Given the description of an element on the screen output the (x, y) to click on. 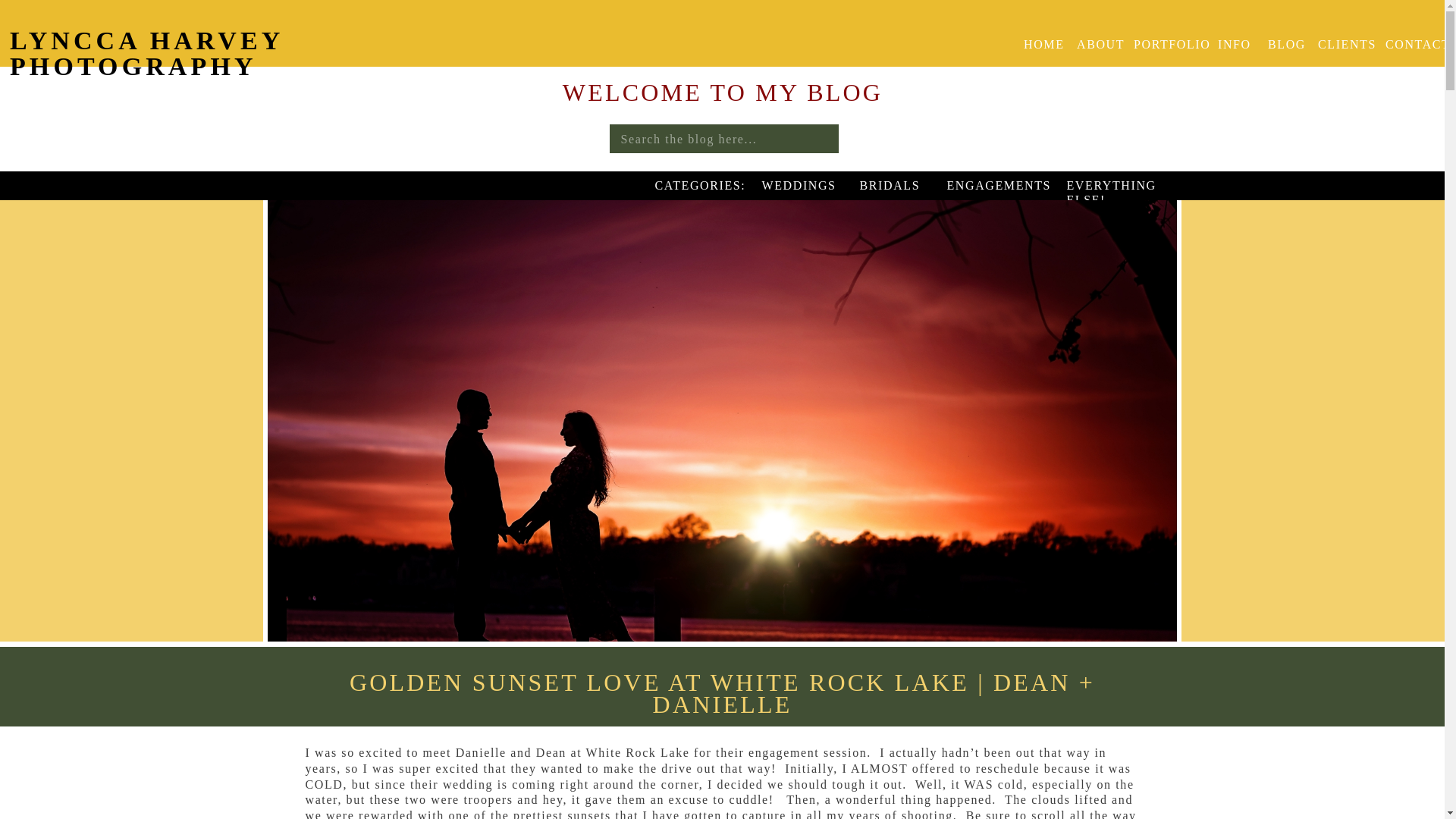
CLIENTS (1342, 43)
CONTACT (1410, 43)
EVERYTHING ELSE! (1120, 185)
HOME (1040, 43)
BRIDALS (887, 186)
INFO (1234, 43)
ENGAGEMENTS (990, 186)
BLOG (1283, 43)
PORTFOLIO (1169, 43)
WEDDINGS (794, 186)
ABOUT (1096, 43)
